Given the description of an element on the screen output the (x, y) to click on. 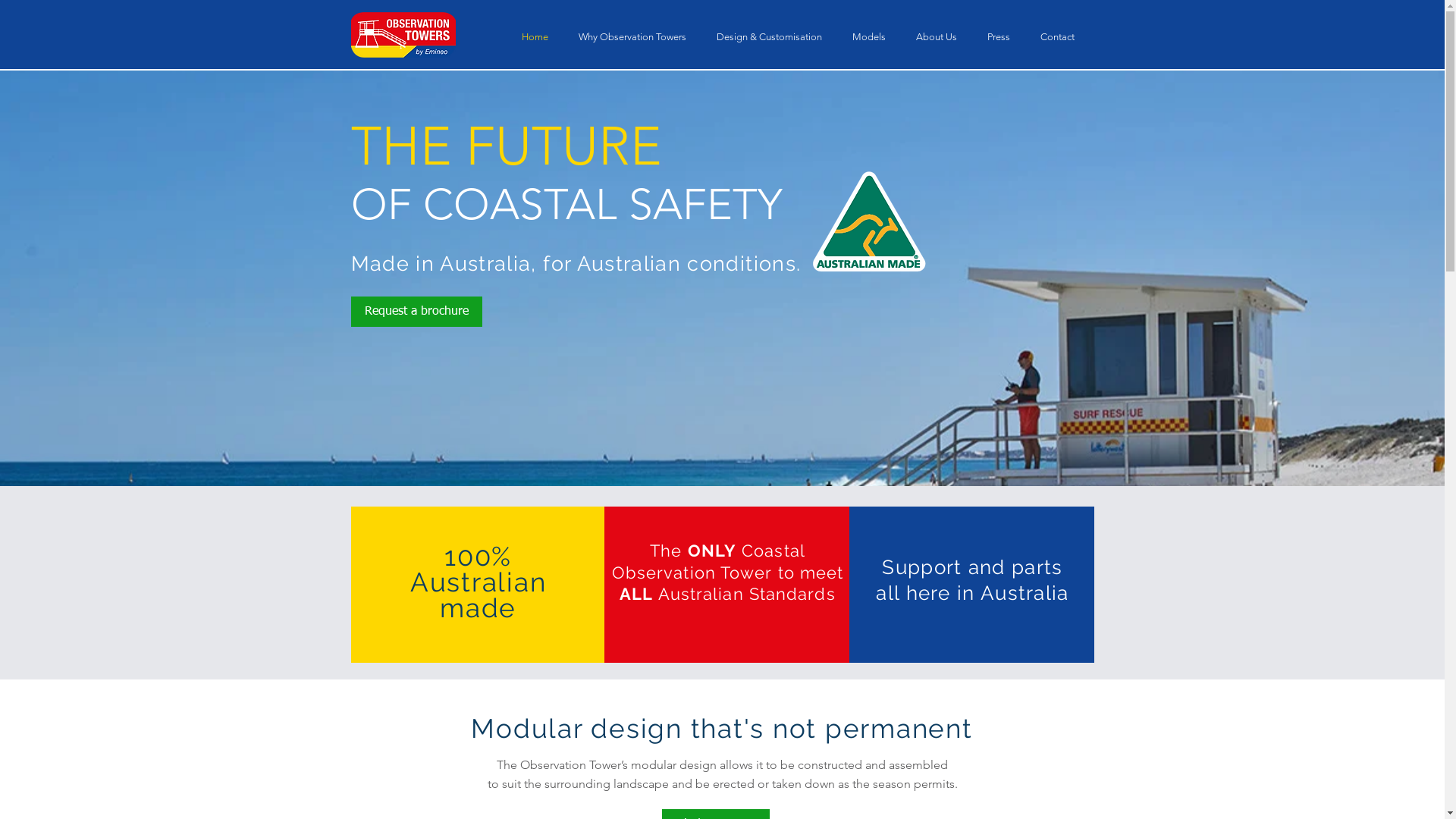
Contact Element type: text (1057, 36)
About Us Element type: text (936, 36)
Press Element type: text (998, 36)
Design & Customisation Element type: text (768, 36)
Request a brochure Element type: text (415, 311)
Models Element type: text (868, 36)
Home Element type: text (534, 36)
Why Observation Towers Element type: text (631, 36)
